Given the description of an element on the screen output the (x, y) to click on. 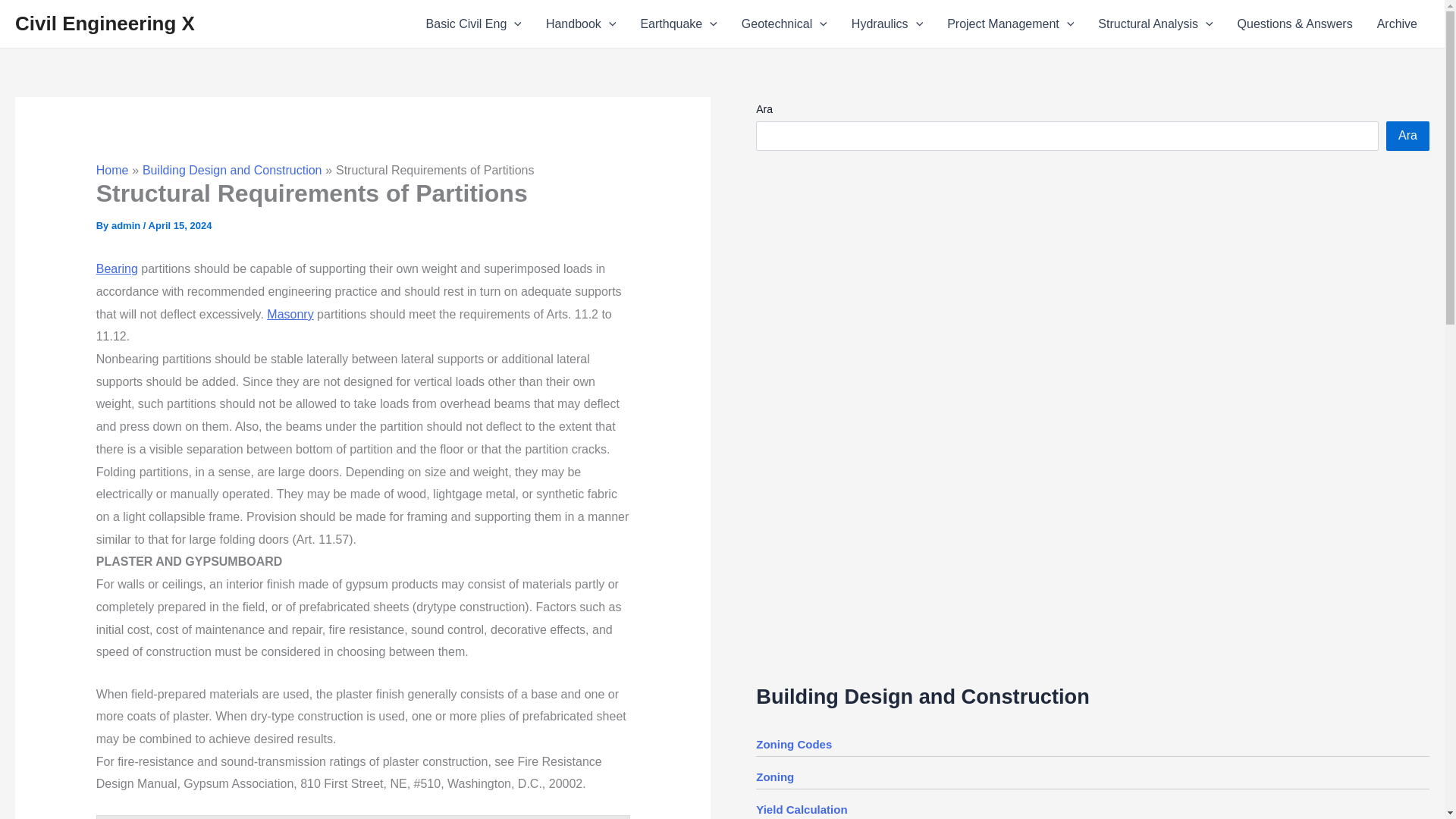
Basic Civil Eng (473, 23)
Handbook (581, 23)
Yield Calculation (801, 809)
View all posts by admin (127, 225)
Zoning (774, 776)
Bearing (117, 268)
Civil Engineering X (104, 23)
Masonry (289, 314)
Zoning Codes (793, 744)
